Given the description of an element on the screen output the (x, y) to click on. 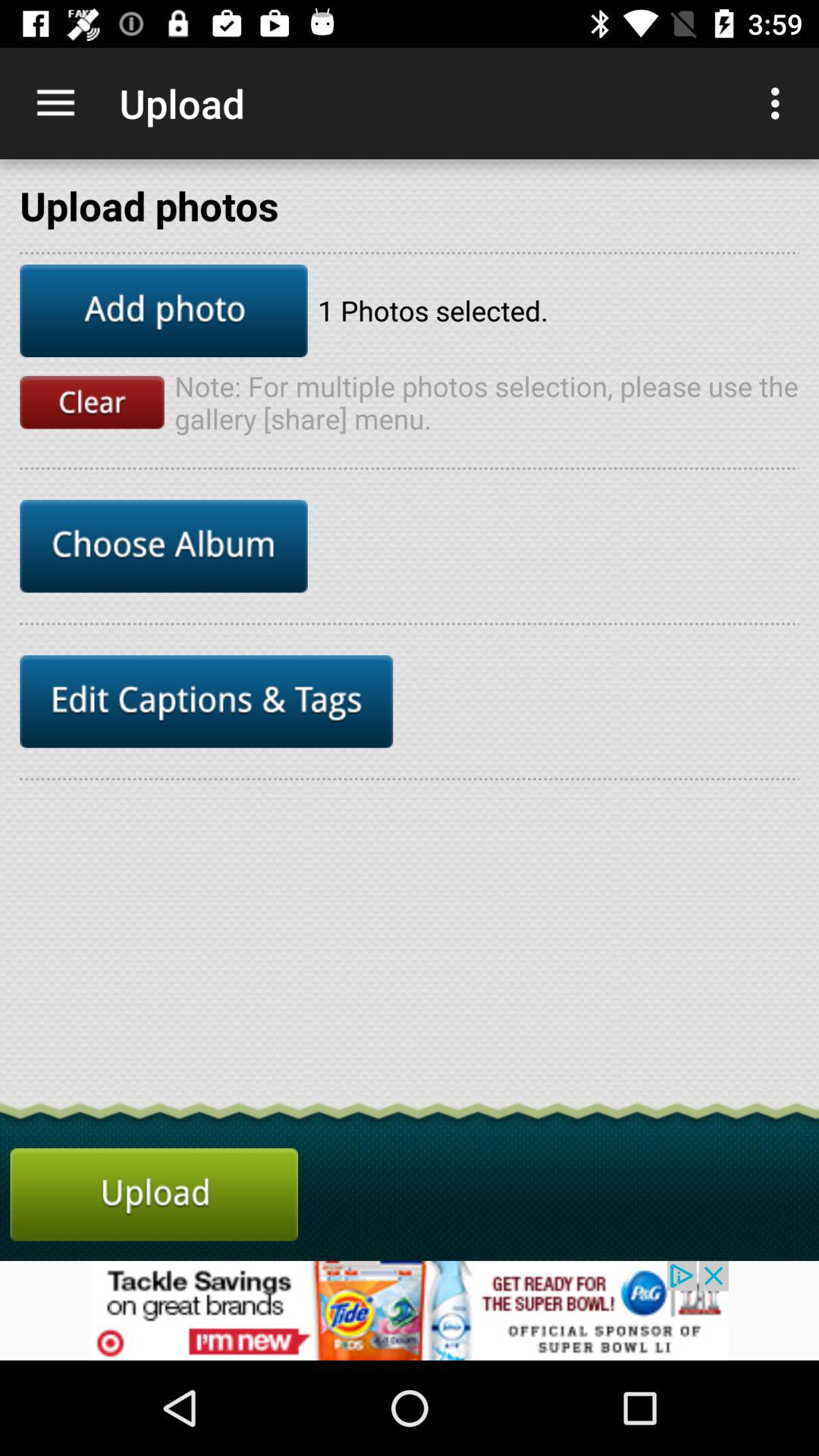
clear selection (91, 401)
